Given the description of an element on the screen output the (x, y) to click on. 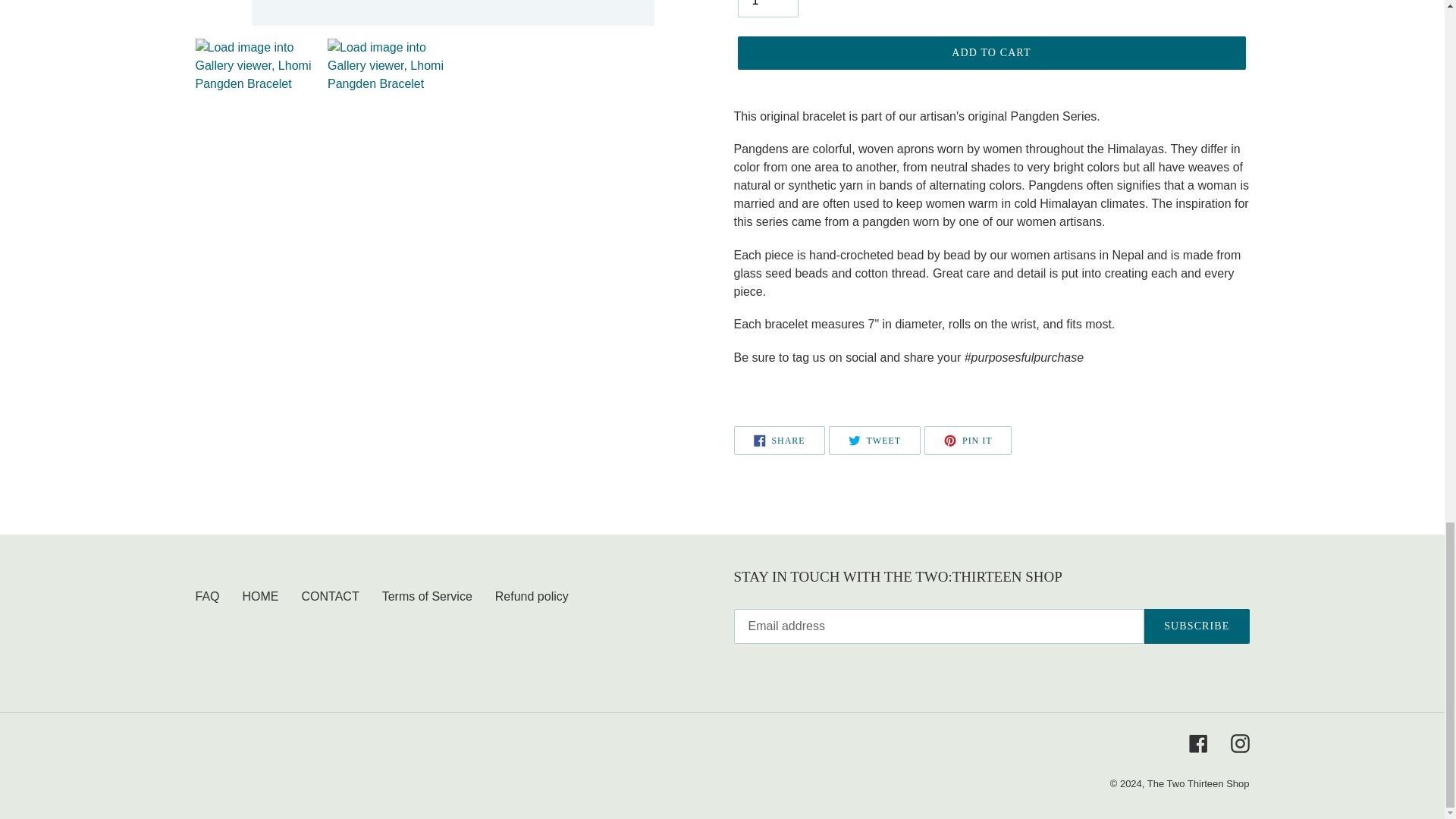
1 (766, 8)
